Given the description of an element on the screen output the (x, y) to click on. 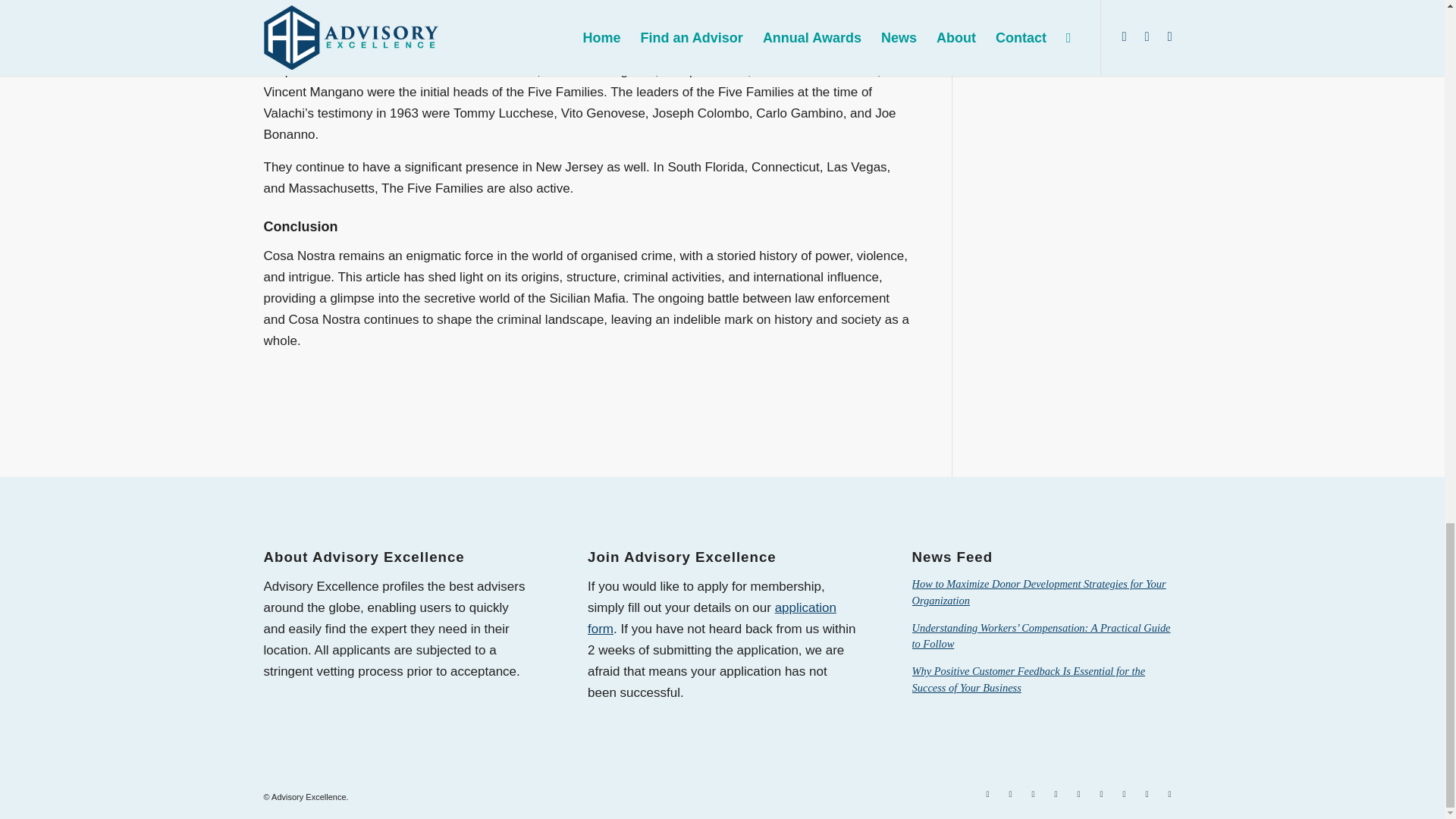
application form (711, 618)
